Given the description of an element on the screen output the (x, y) to click on. 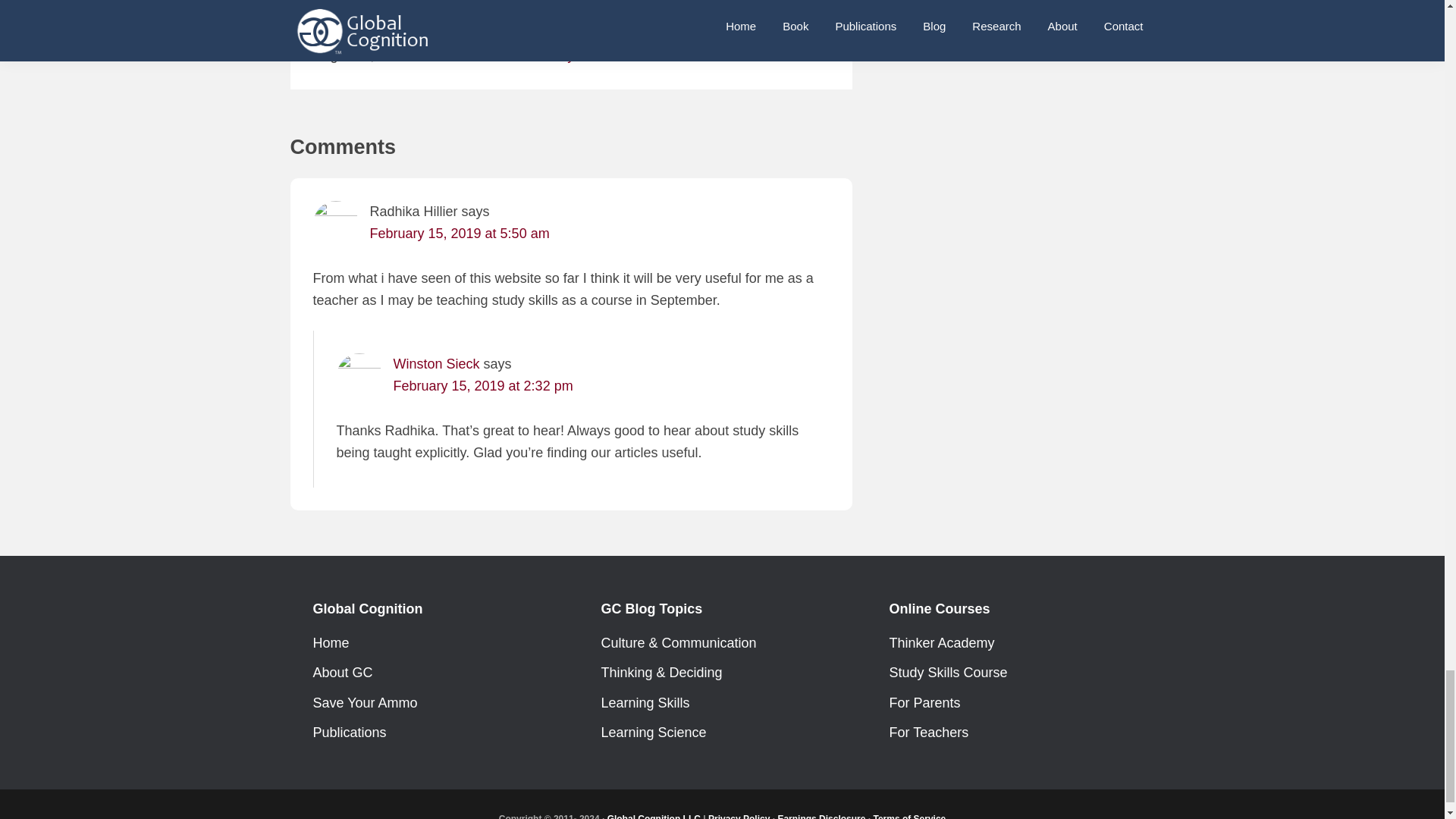
Winston Sieck (436, 363)
February 15, 2019 at 5:50 am (459, 233)
Dr. Winston Sieck (449, 10)
Thinker Academy (520, 55)
February 15, 2019 at 2:32 pm (482, 385)
